Given the description of an element on the screen output the (x, y) to click on. 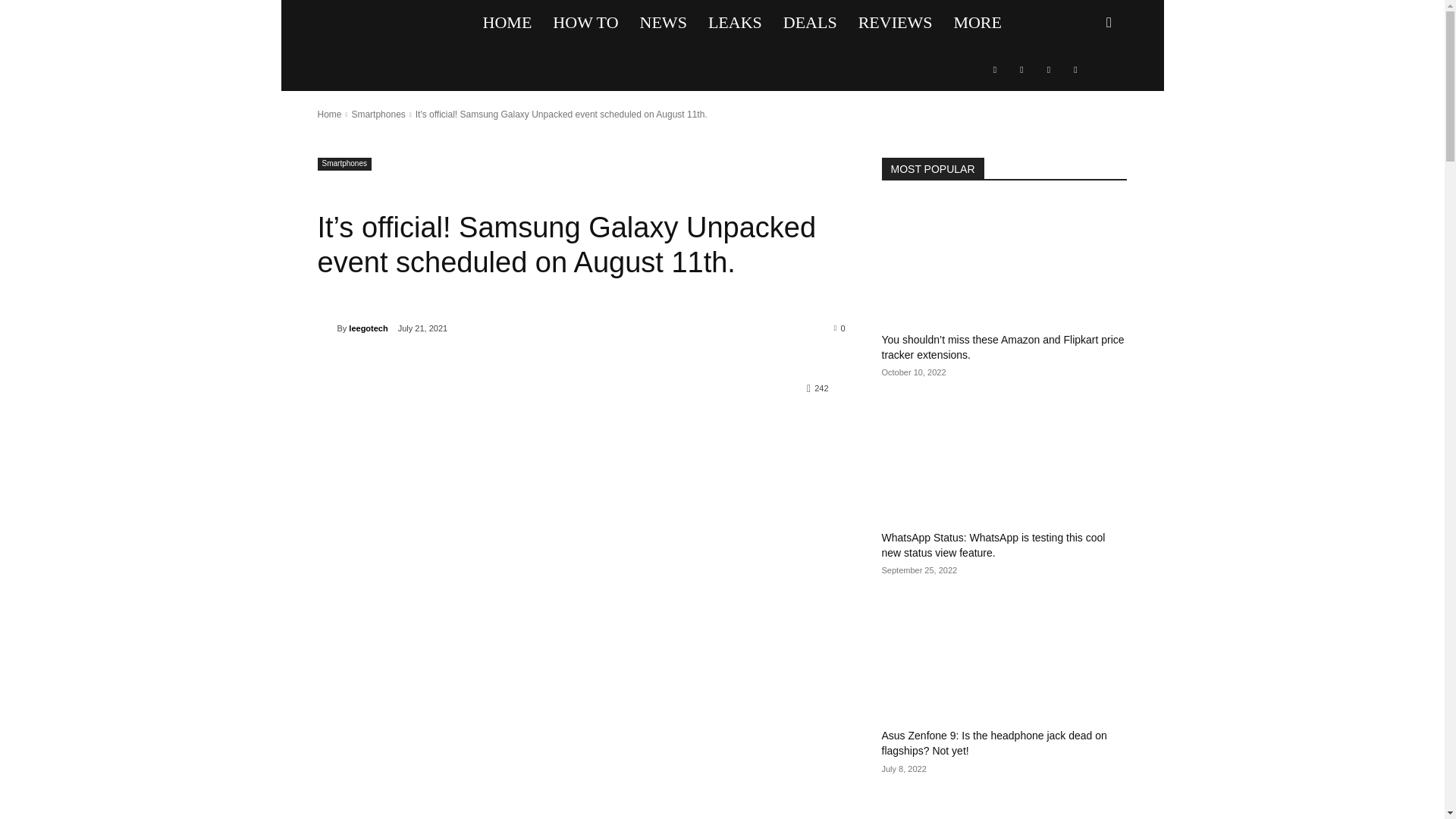
View all posts in Smartphones (377, 113)
MORE (976, 22)
HOW TO (584, 22)
NEWS (662, 22)
leegotech (326, 328)
HOME (507, 22)
LEAKS (735, 22)
DEALS (810, 22)
REVIEWS (895, 22)
LEEGO TECH (394, 22)
